Given the description of an element on the screen output the (x, y) to click on. 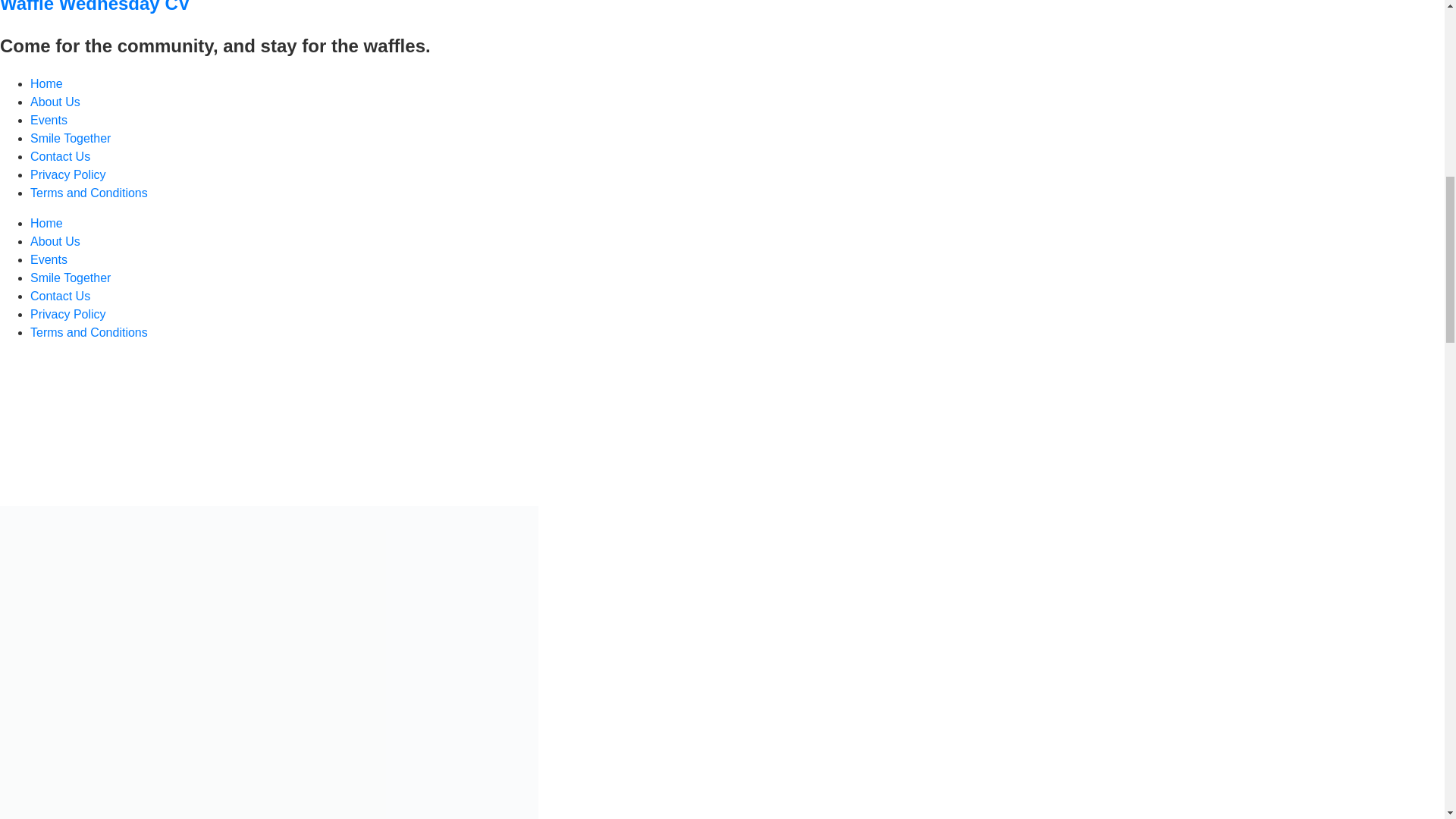
Waffle Wednesday CV (95, 6)
Events (48, 119)
Home (46, 83)
Home (46, 223)
About Us (55, 101)
Smile Together (70, 277)
Terms and Conditions (89, 332)
Smile Together (70, 137)
Contact Us (60, 295)
Privacy Policy (68, 174)
